Given the description of an element on the screen output the (x, y) to click on. 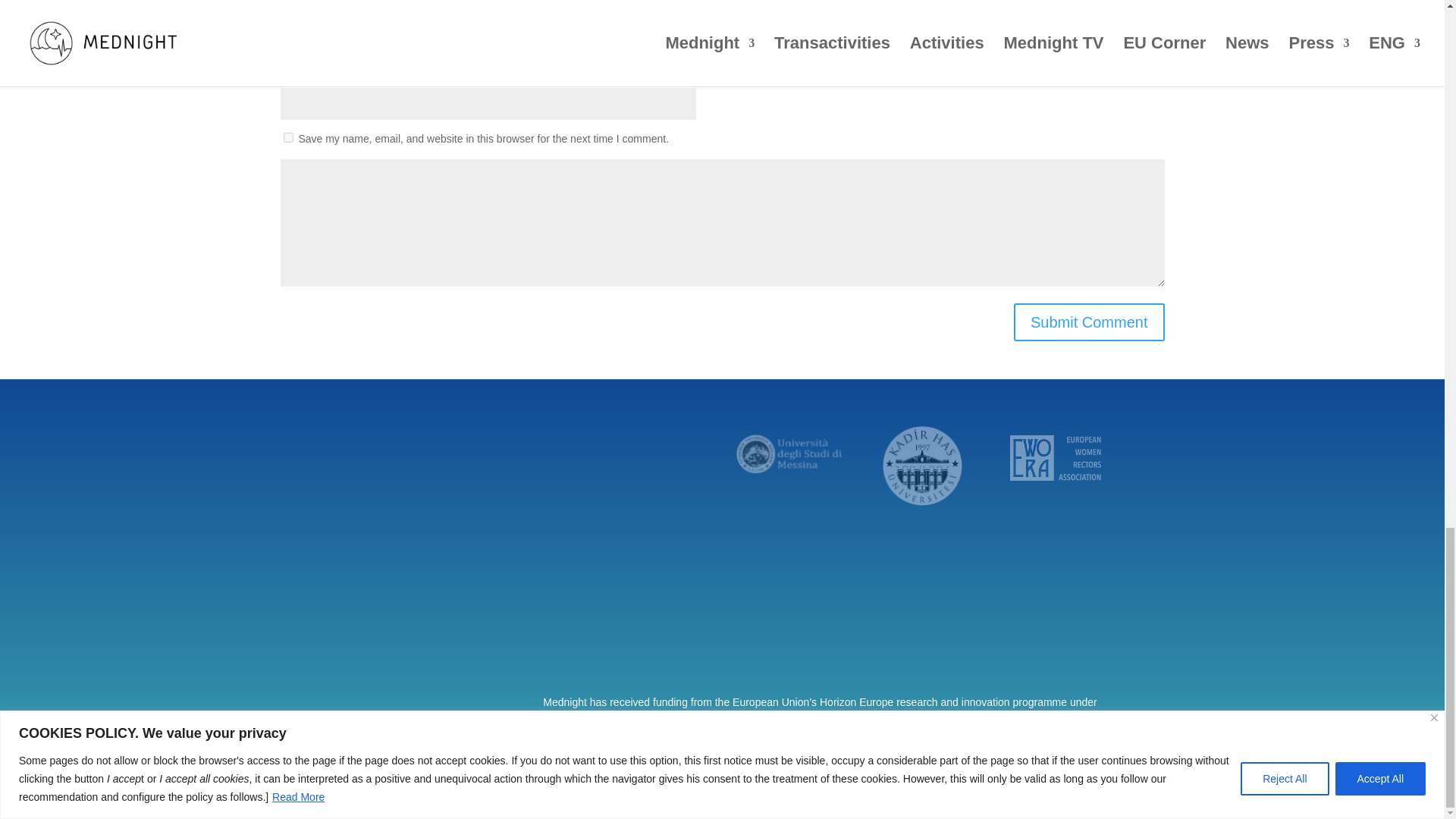
yes (288, 137)
Submit Comment (1088, 322)
